Given the description of an element on the screen output the (x, y) to click on. 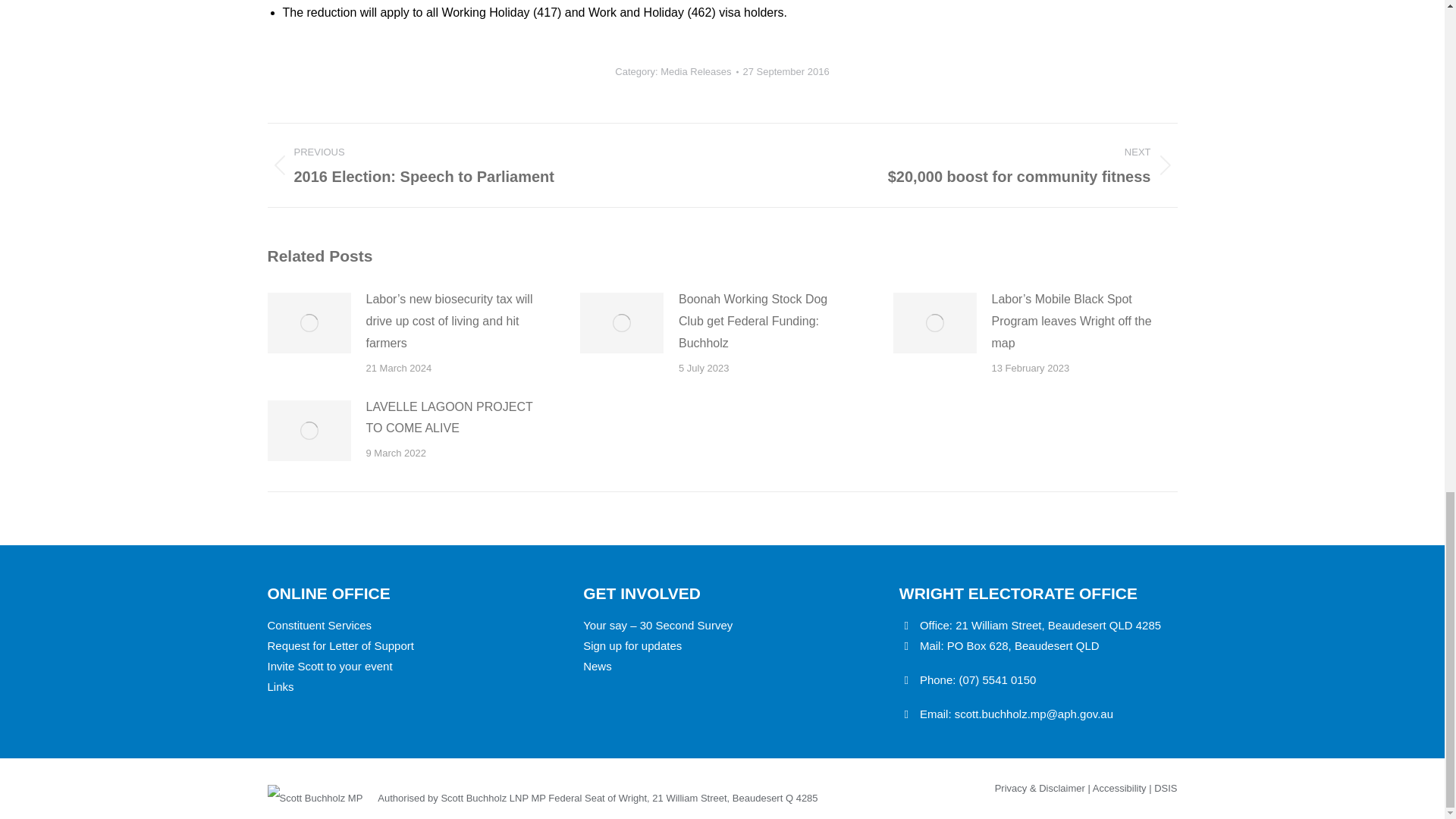
12:00 am (785, 71)
